Given the description of an element on the screen output the (x, y) to click on. 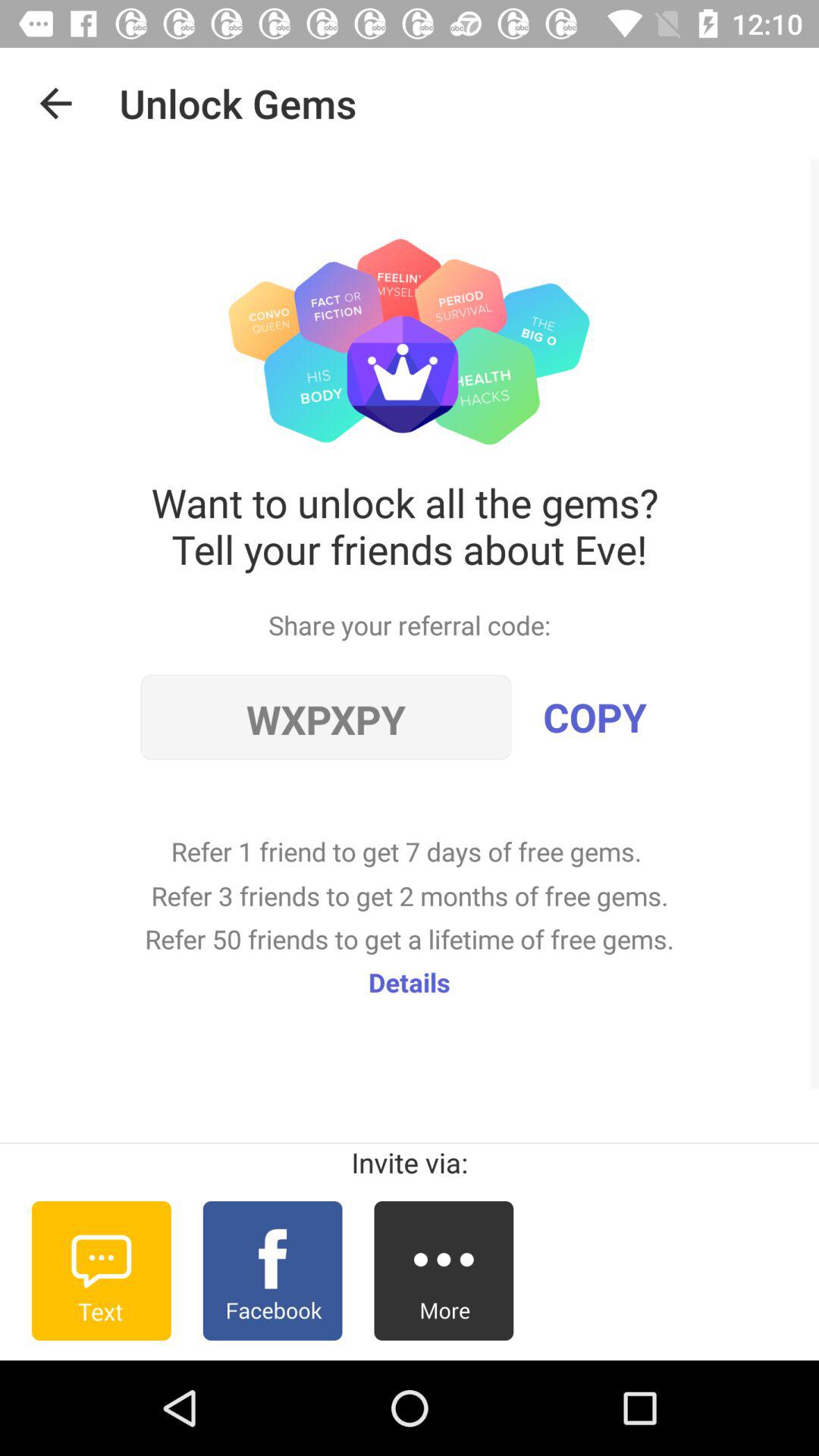
invite through text (101, 1270)
